Given the description of an element on the screen output the (x, y) to click on. 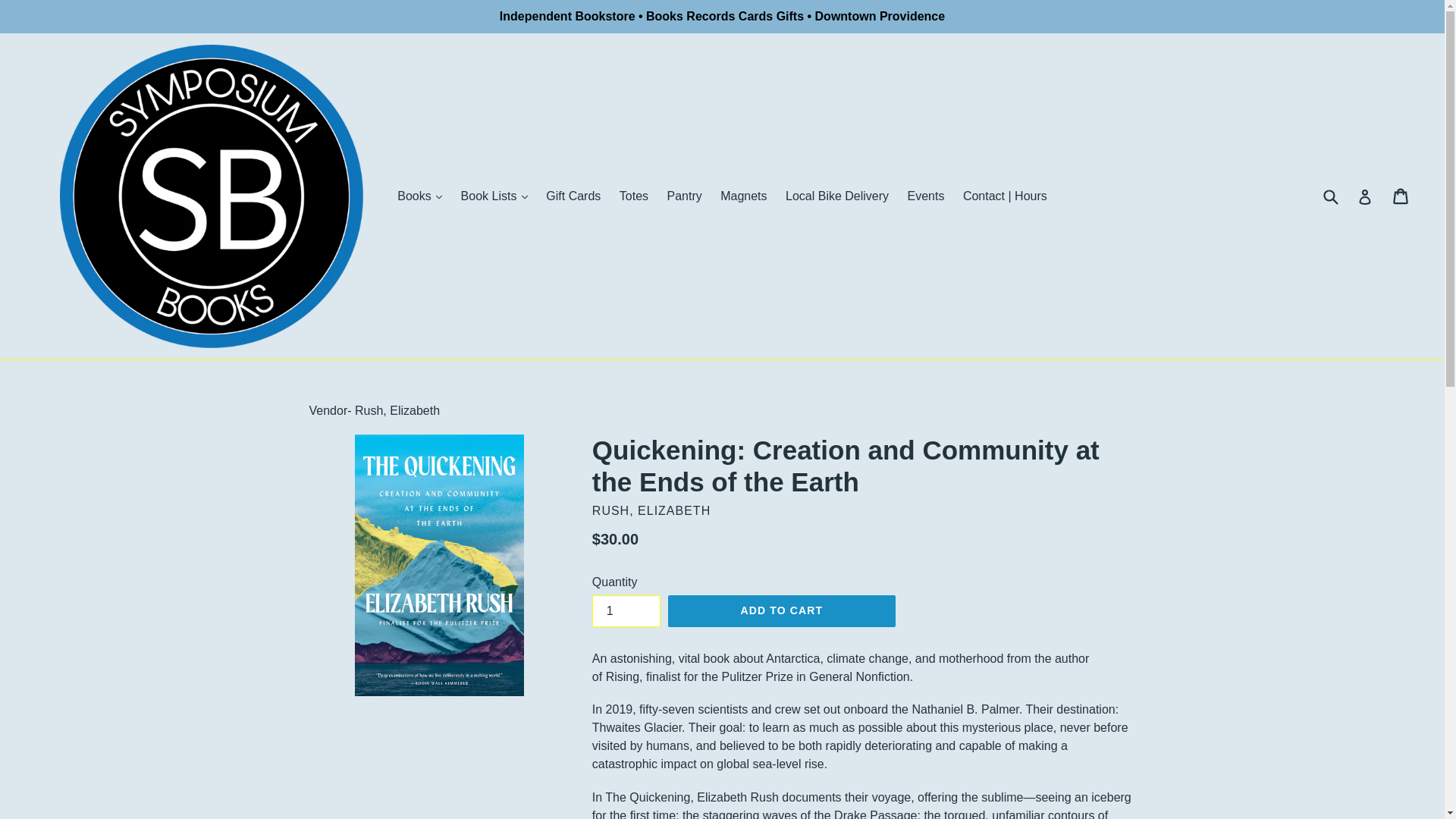
1 (626, 610)
